Given the description of an element on the screen output the (x, y) to click on. 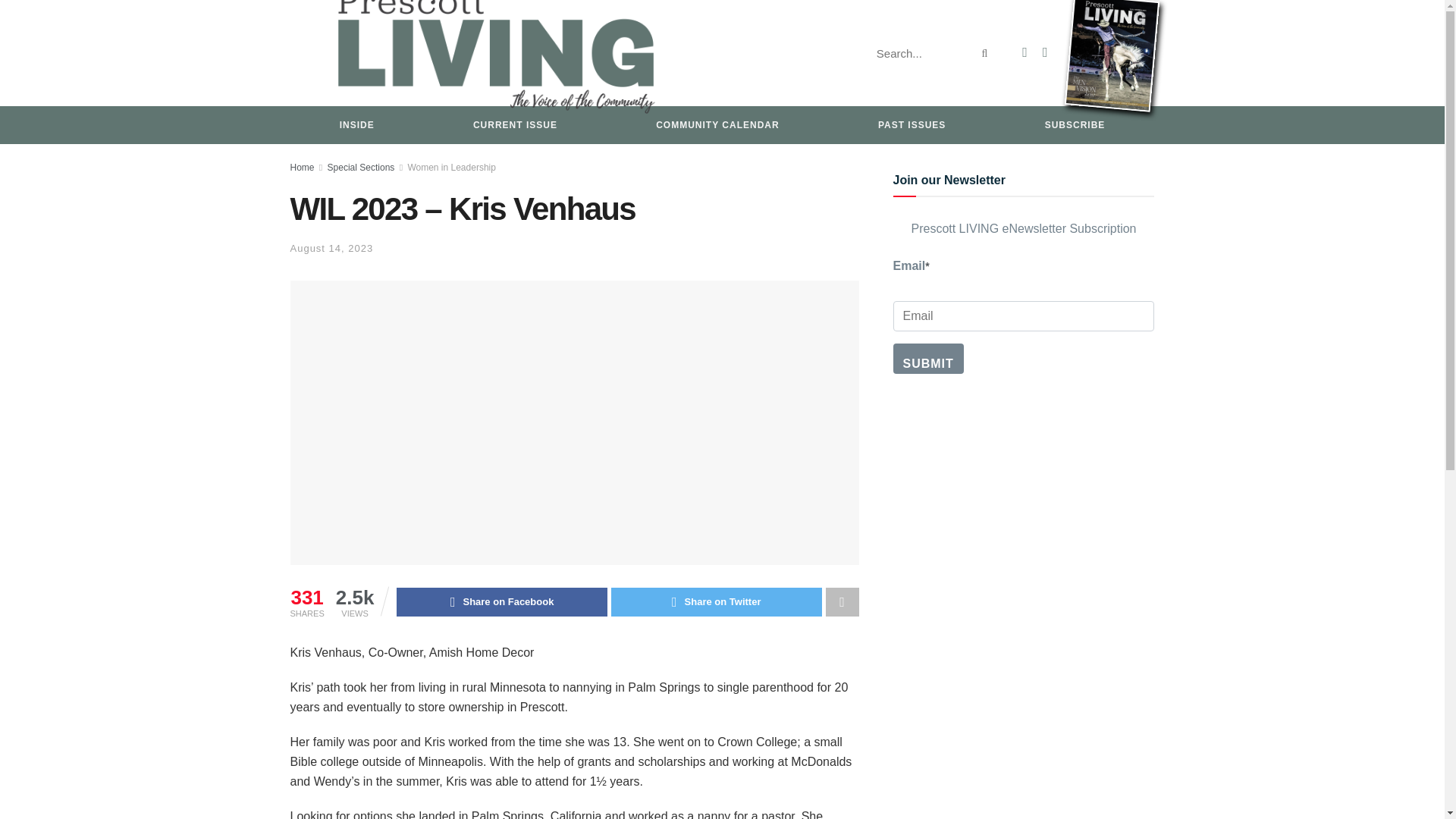
PAST ISSUES (911, 125)
COMMUNITY CALENDAR (717, 125)
Submit (928, 358)
INSIDE (356, 125)
CURRENT ISSUE (515, 125)
SUBSCRIBE (1074, 125)
